Given the description of an element on the screen output the (x, y) to click on. 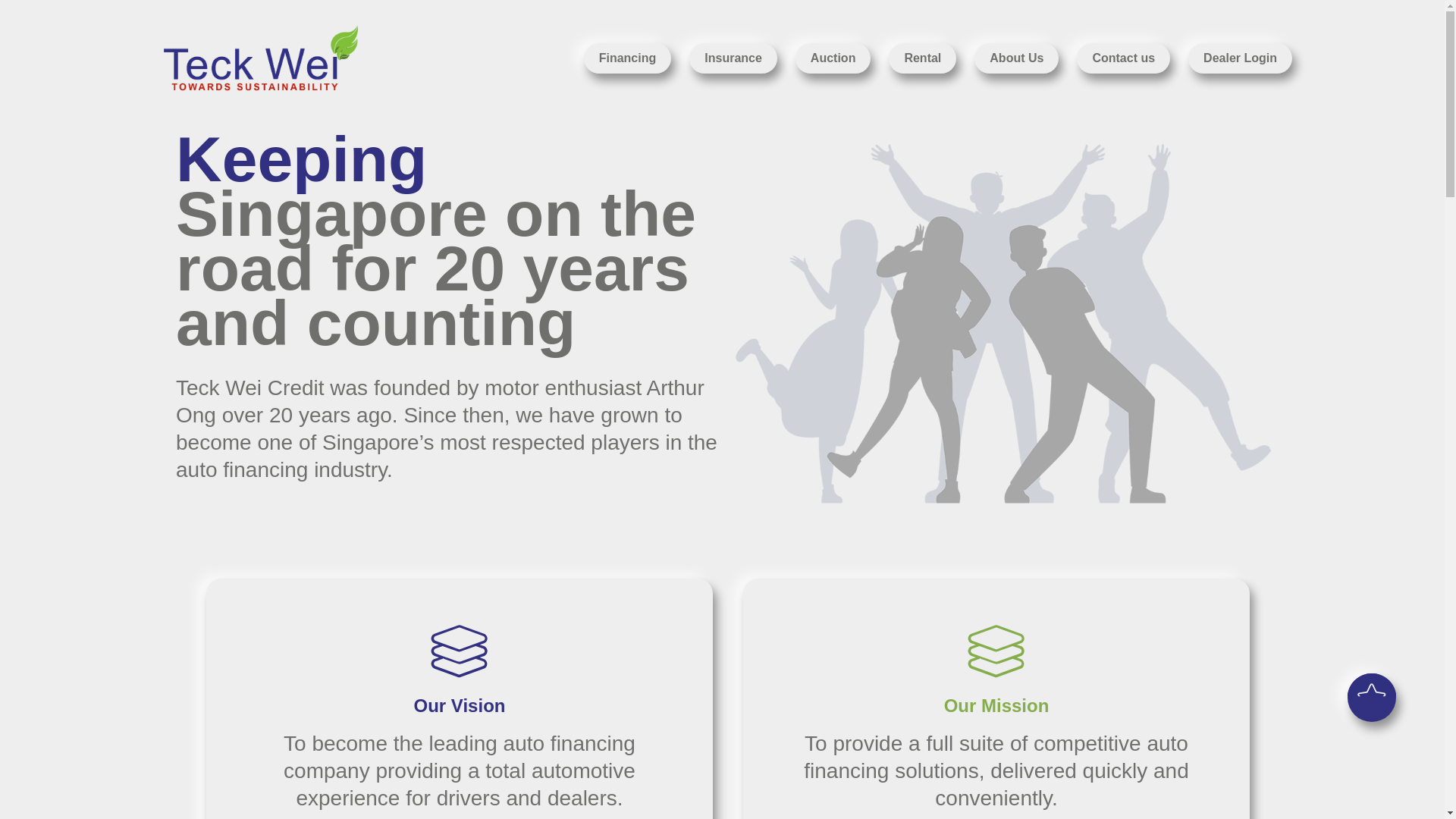
Financing (627, 58)
Rental (922, 58)
Auction (832, 58)
Dealer Login (1240, 58)
Insurance (732, 58)
About Us (1016, 58)
Contact us (1123, 58)
